Given the description of an element on the screen output the (x, y) to click on. 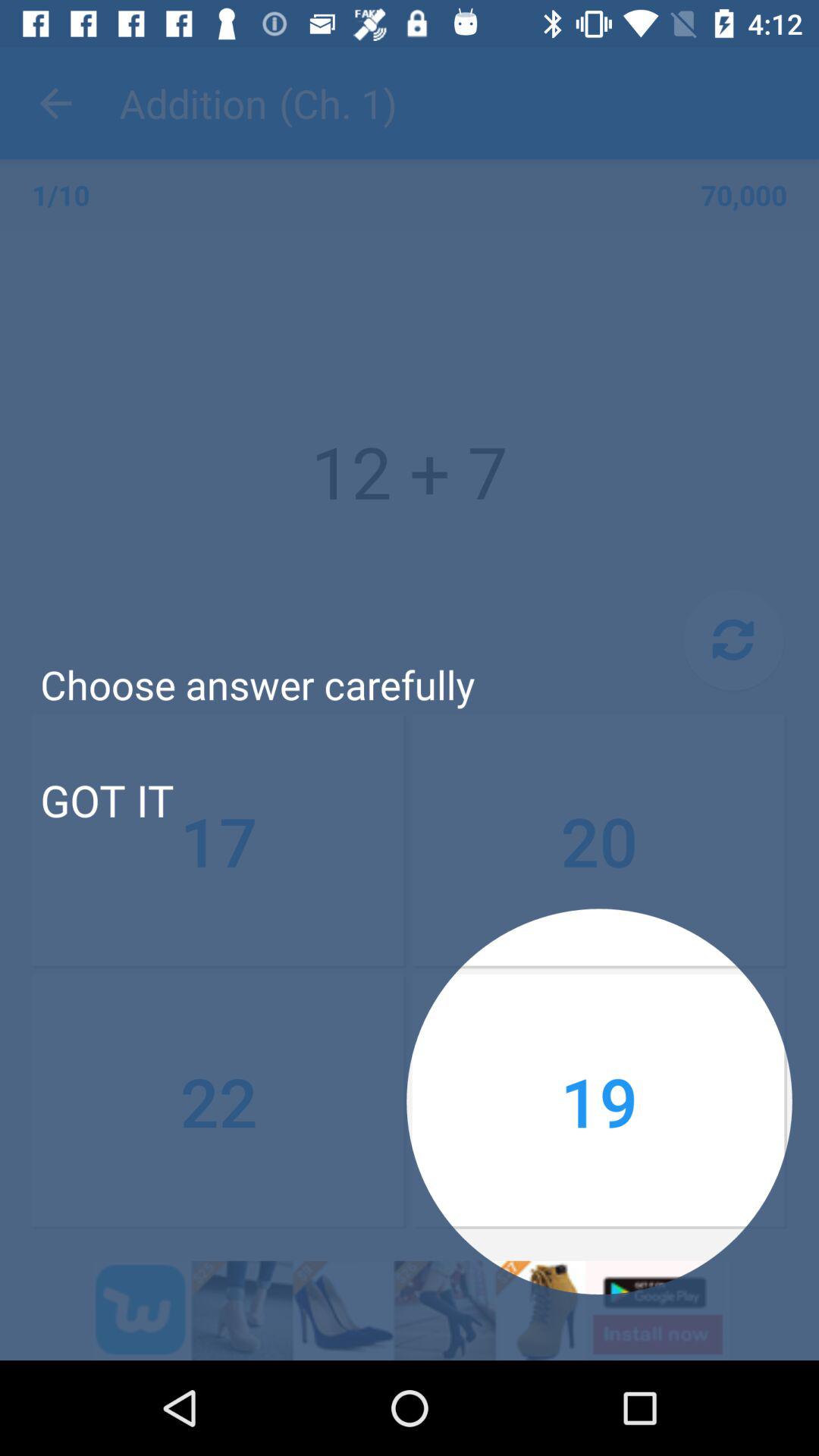
press the icon above 22 item (599, 840)
